Given the description of an element on the screen output the (x, y) to click on. 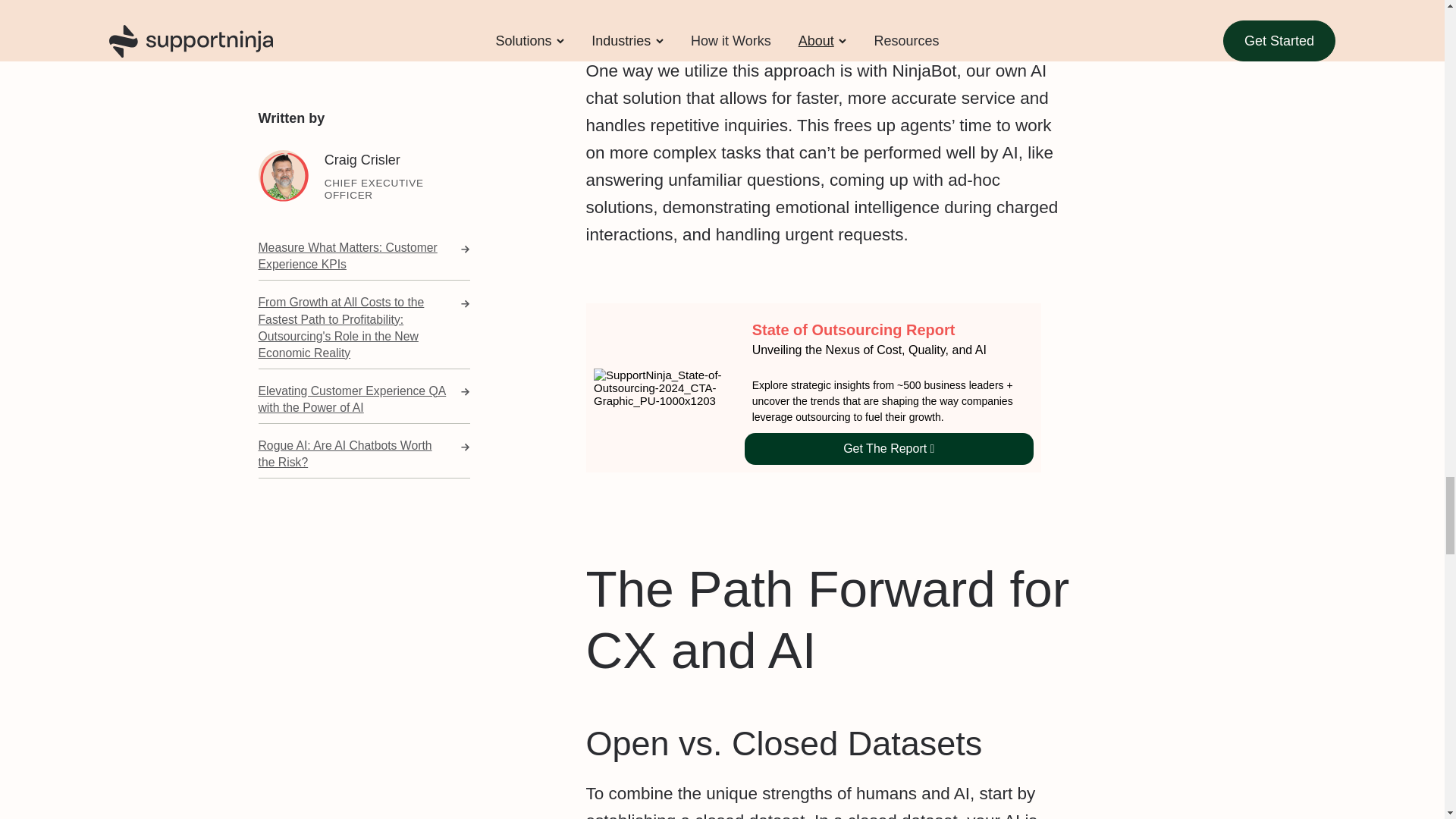
Embedded CTA (813, 387)
